Given the description of an element on the screen output the (x, y) to click on. 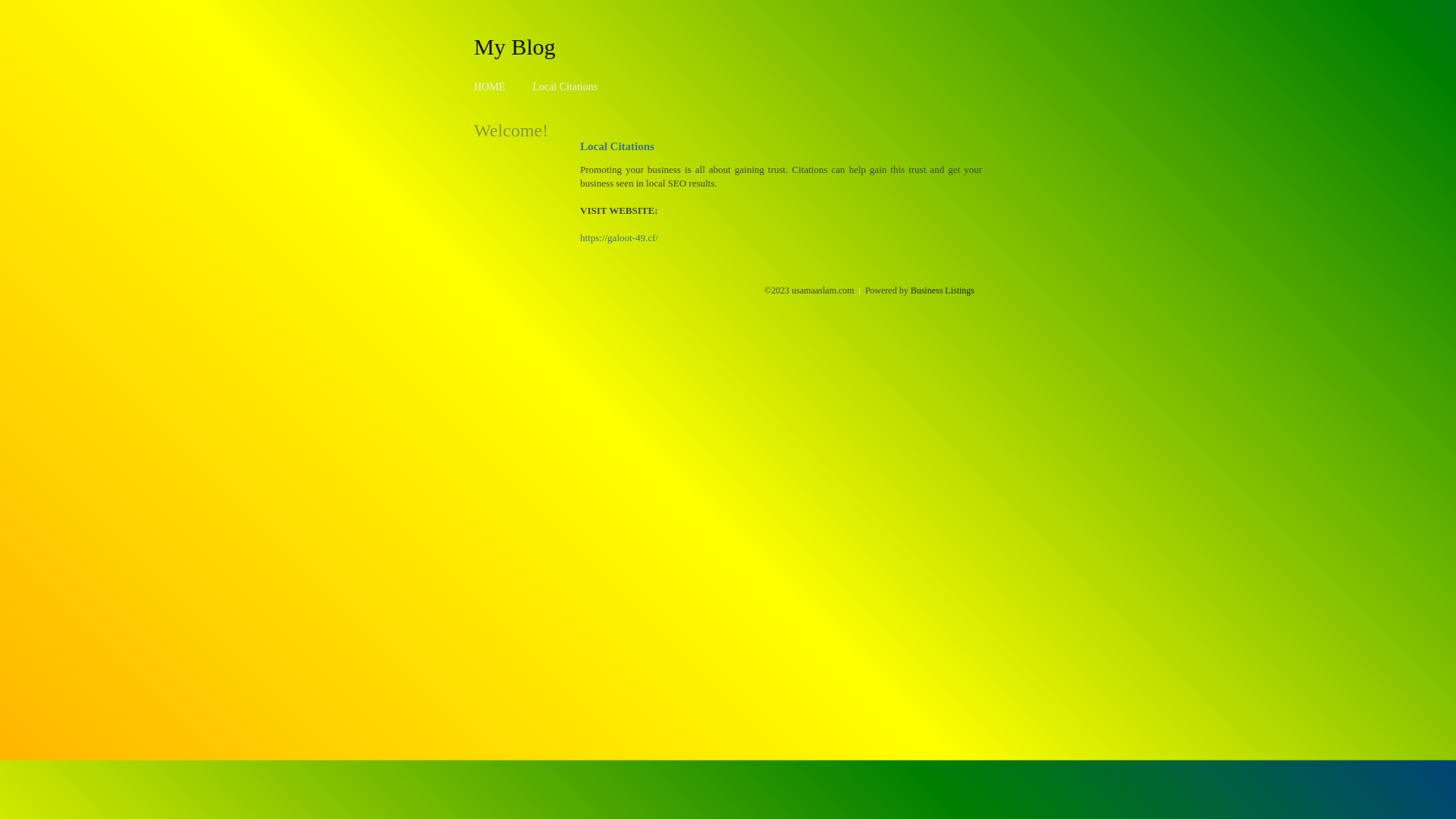
Business Listings Element type: text (942, 290)
HOME Element type: text (489, 86)
Local Citations Element type: text (564, 86)
https://galoot-49.cf/ Element type: text (619, 237)
My Blog Element type: text (514, 46)
